Given the description of an element on the screen output the (x, y) to click on. 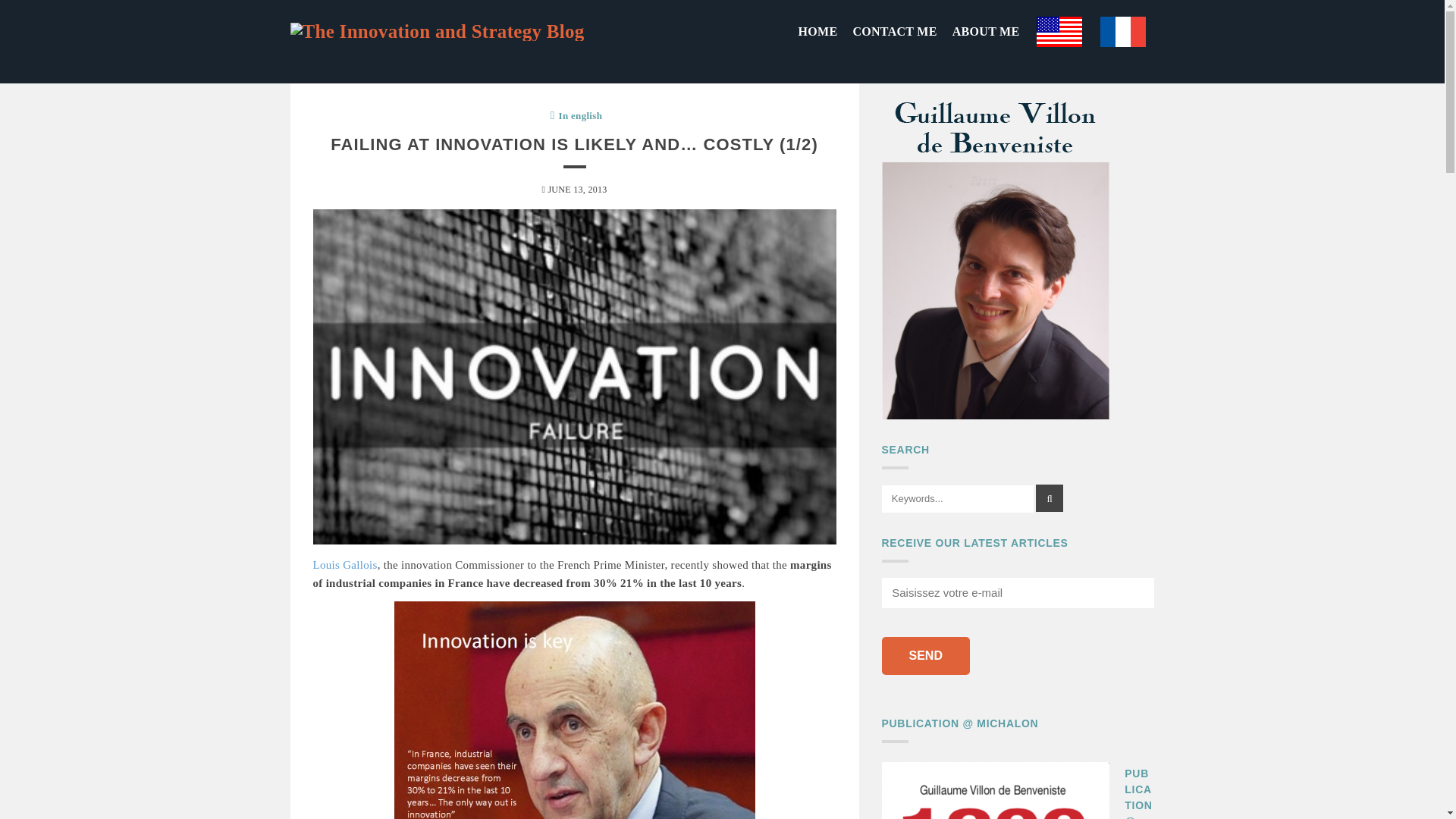
ABOUT ME (985, 31)
In english (580, 115)
The Innovation and Strategy Blog (437, 32)
Louis Gallois (345, 564)
CONTACT ME (893, 31)
HOME (817, 31)
Search (1048, 497)
130613 - Louis Gallois (574, 710)
